Given the description of an element on the screen output the (x, y) to click on. 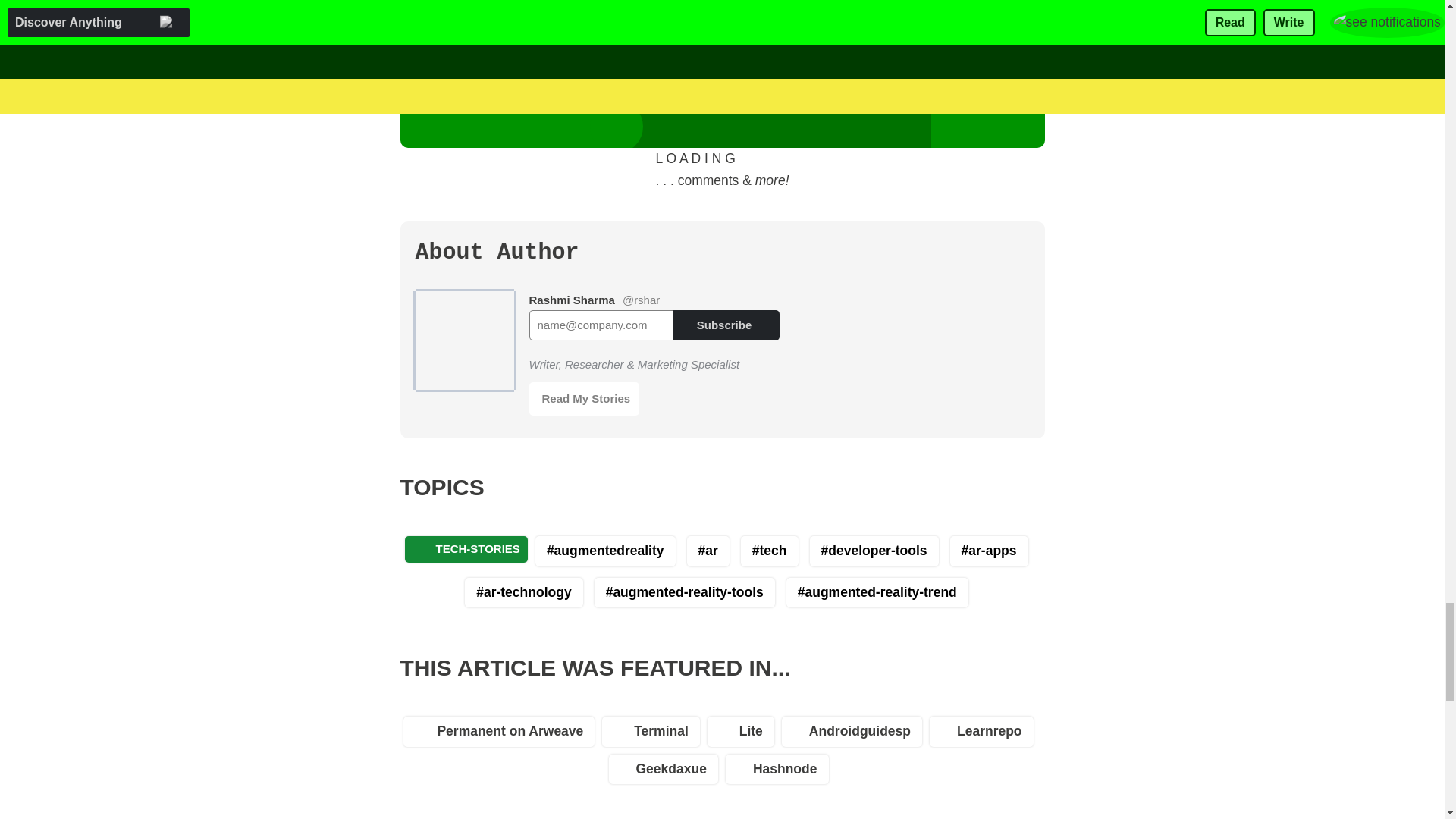
Androidguidesp (855, 734)
Read My Stories (584, 398)
 Lite (744, 734)
TECH-STORIES (465, 549)
 Terminal (654, 734)
Permanent on Arweave (502, 734)
Subscribe (725, 324)
